Given the description of an element on the screen output the (x, y) to click on. 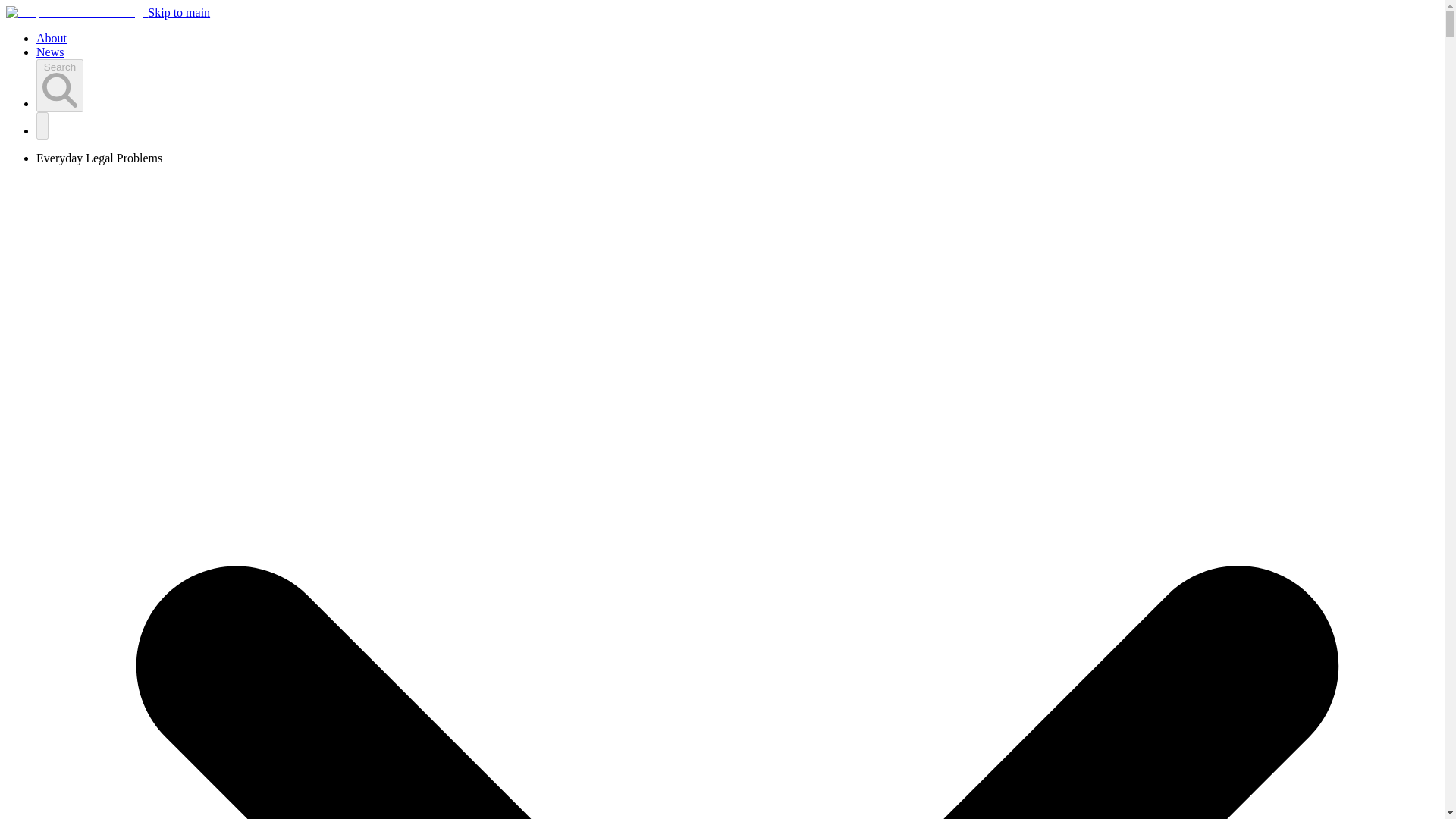
Search (59, 85)
Skip to main (178, 11)
News (50, 51)
About (51, 38)
